Given the description of an element on the screen output the (x, y) to click on. 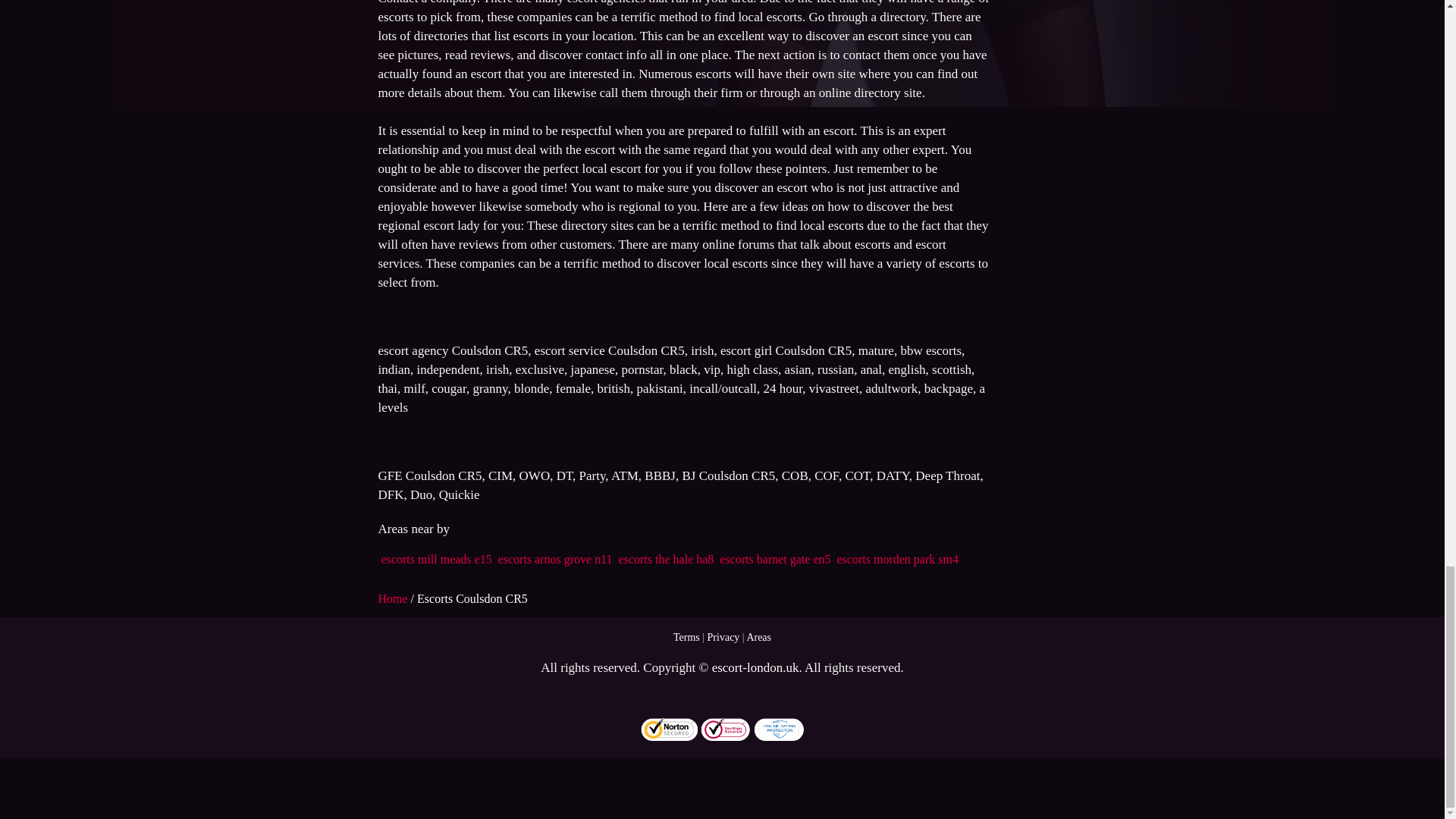
escort-london.uk (755, 667)
Privacy (723, 636)
escorts mill meads e15 (436, 558)
Terms (686, 636)
Terms (686, 636)
Areas (758, 636)
escort-london.uk (755, 667)
escorts the hale ha8 (666, 558)
Areas (758, 636)
escorts morden park sm4 (897, 558)
